Given the description of an element on the screen output the (x, y) to click on. 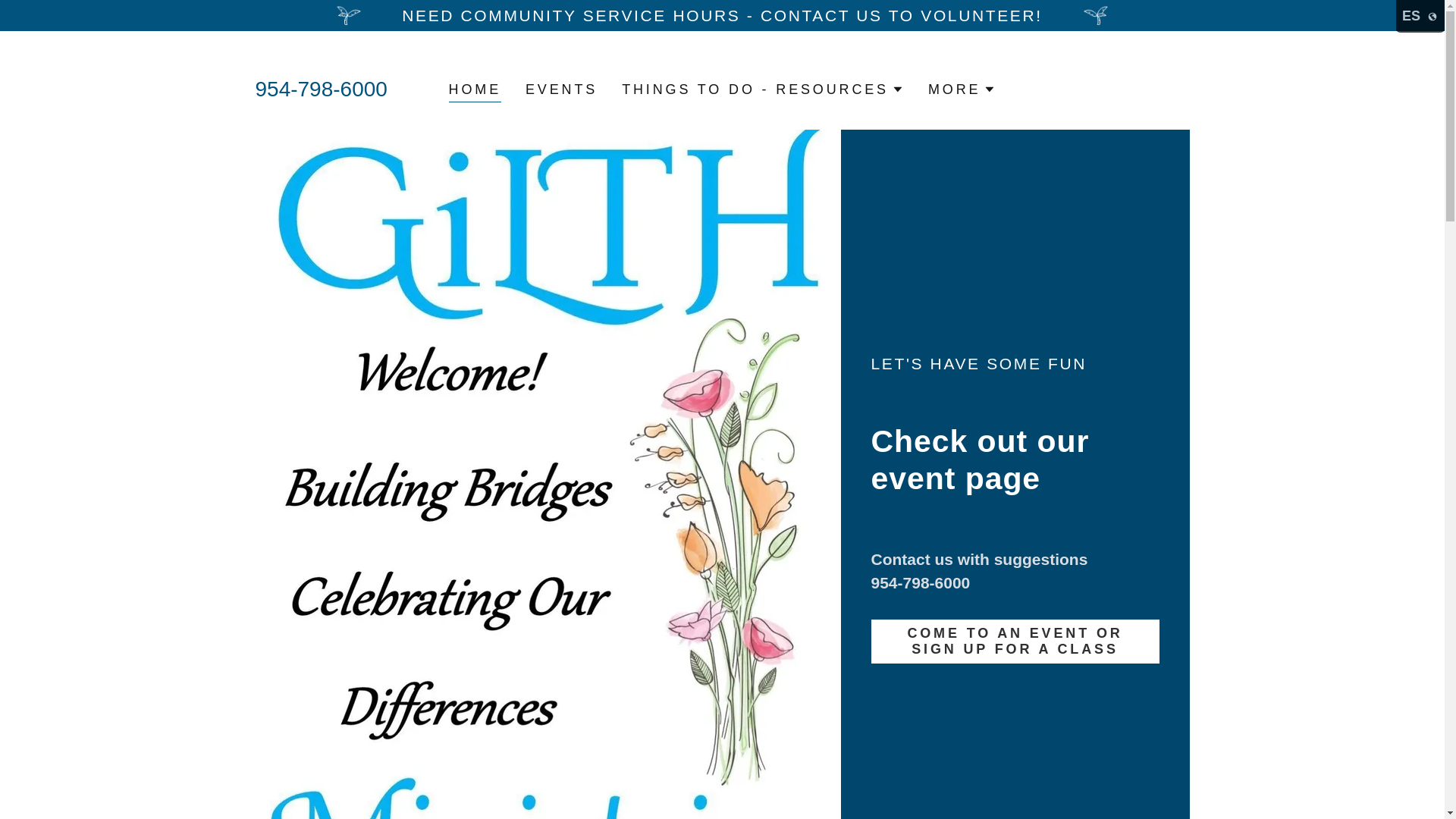
EVENTS (561, 89)
THINGS TO DO - RESOURCES (762, 89)
954-798-6000 (320, 88)
HOME (474, 91)
MORE (961, 89)
